Given the description of an element on the screen output the (x, y) to click on. 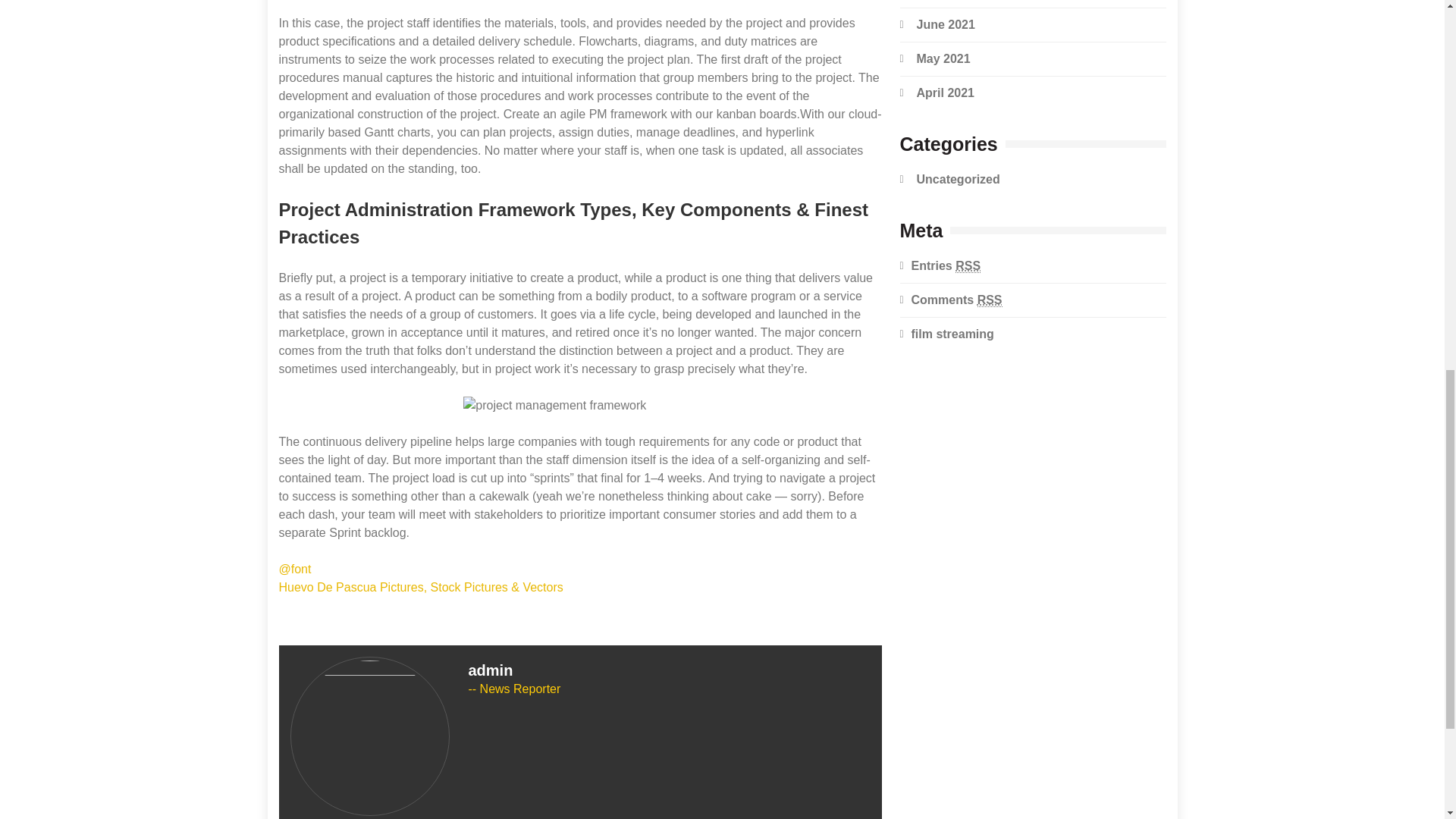
Posts by admin (490, 669)
Really Simple Syndication (967, 265)
Really Simple Syndication (989, 299)
